Given the description of an element on the screen output the (x, y) to click on. 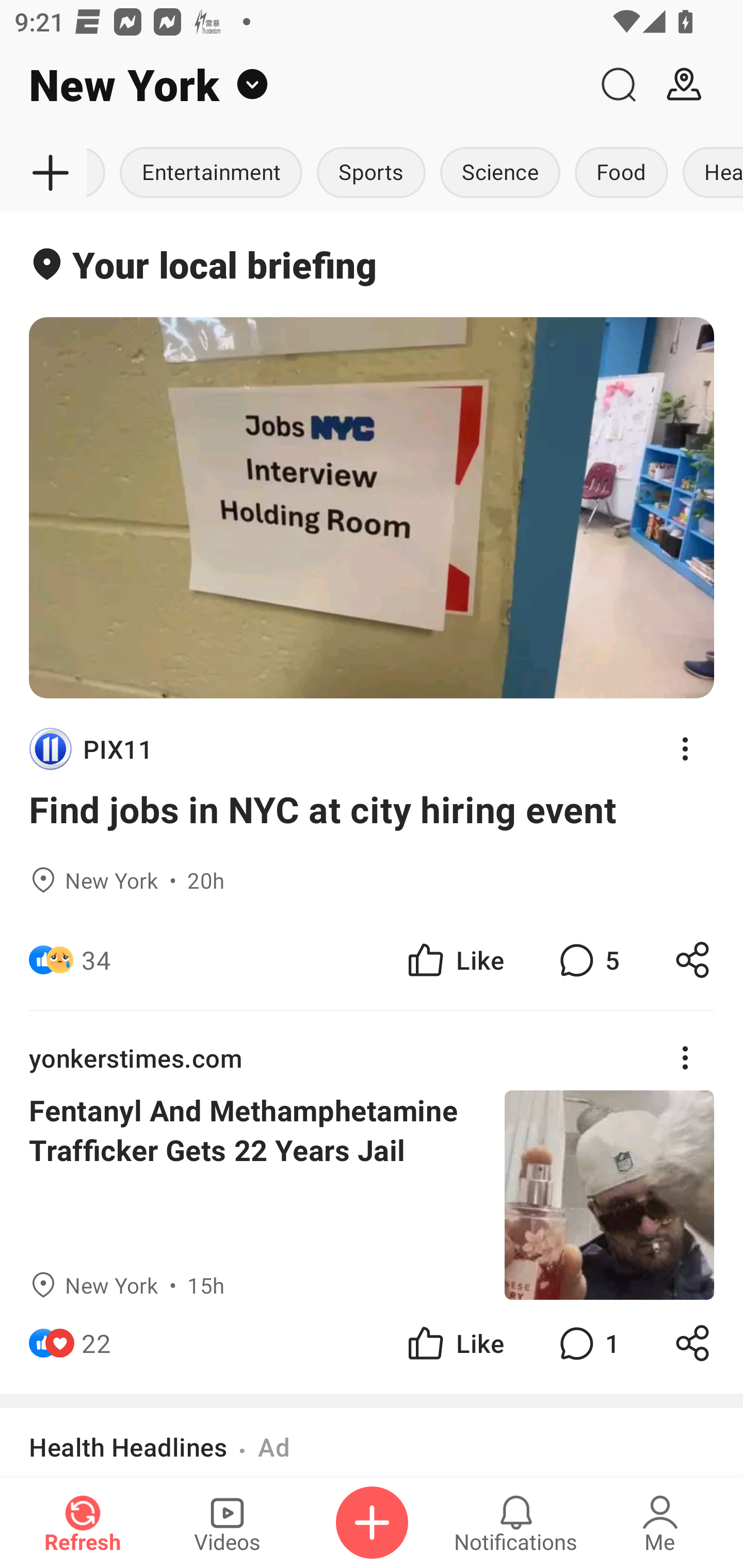
New York (292, 84)
Entertainment (210, 172)
Sports (371, 172)
Science (500, 172)
Food (621, 172)
34 (95, 960)
Like (454, 960)
5 (587, 960)
22 (95, 1342)
Like (454, 1342)
1 (587, 1342)
Health Headlines (127, 1447)
Videos (227, 1522)
Notifications (516, 1522)
Me (659, 1522)
